Given the description of an element on the screen output the (x, y) to click on. 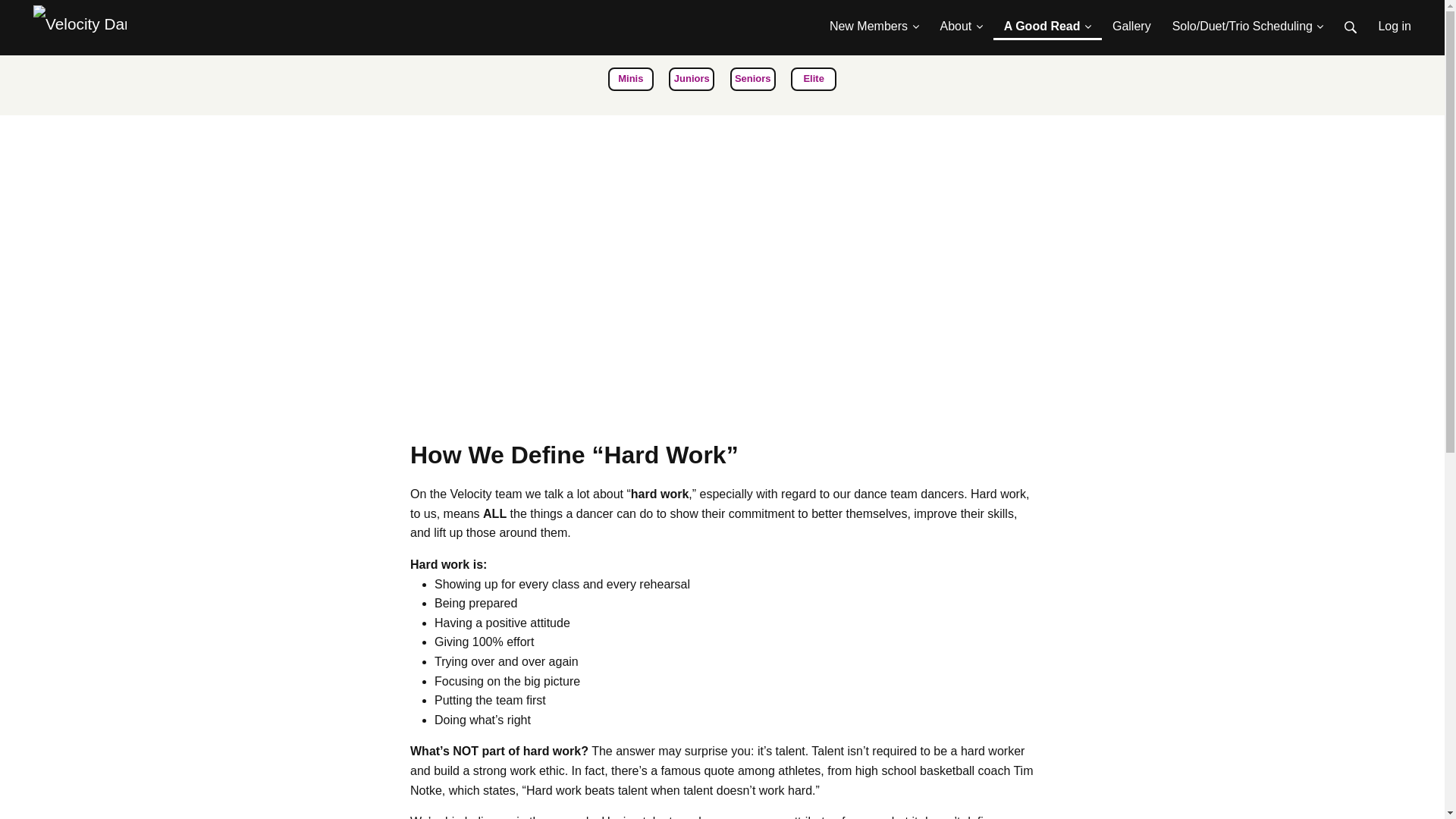
New Members (874, 20)
Seniors (753, 78)
Gallery (1131, 20)
Juniors (691, 78)
A Good Read (1047, 20)
Minis (630, 78)
Elite (812, 78)
Log in (1394, 20)
About (961, 20)
